Given the description of an element on the screen output the (x, y) to click on. 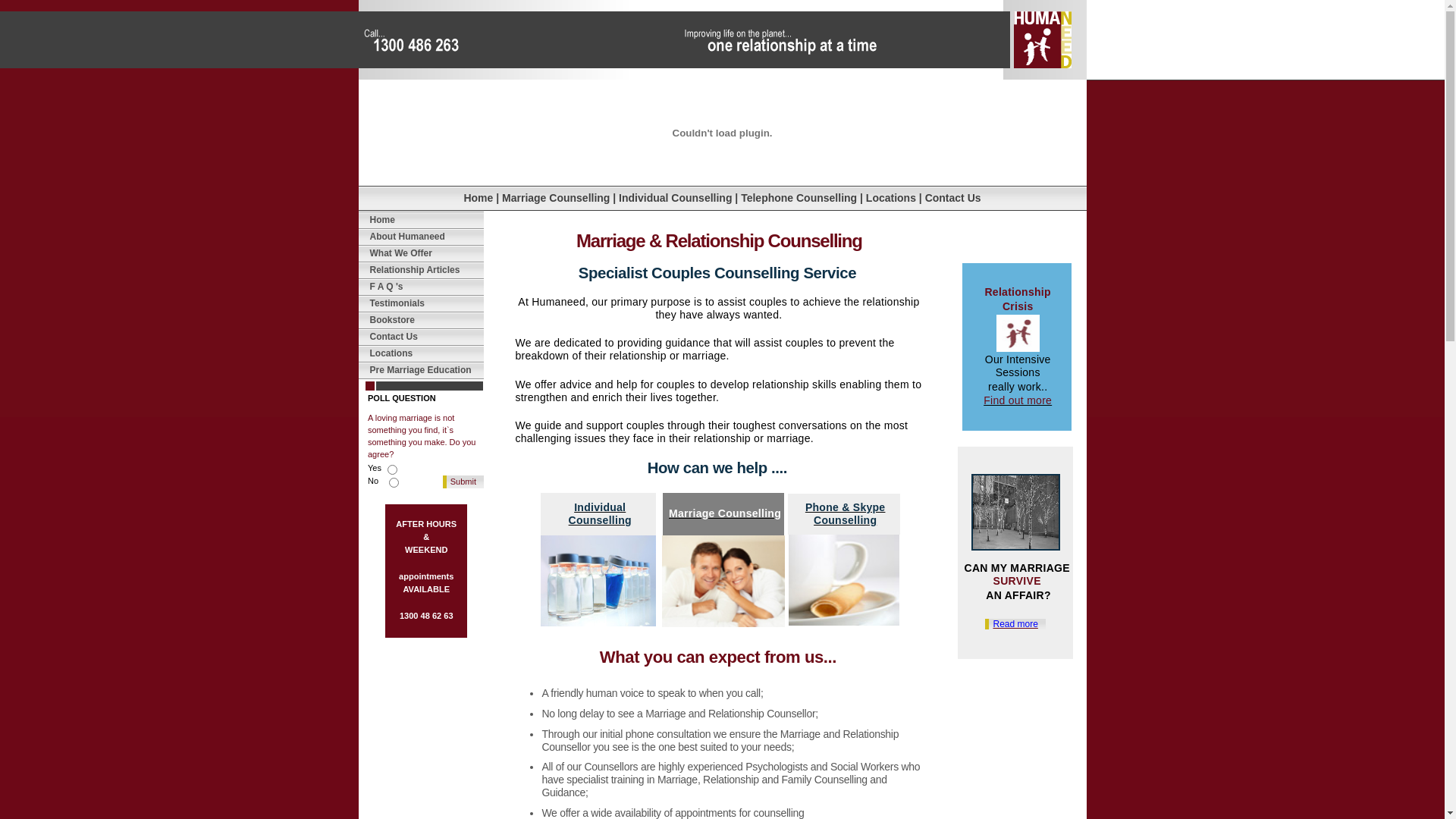
About Humaneed Element type: text (407, 236)
Individual Counselling Element type: text (599, 513)
Home Element type: text (382, 219)
What We Offer Element type: text (401, 252)
Pre Marriage Education Element type: text (420, 369)
Locations Element type: text (891, 197)
Marriage Counselling Element type: text (724, 513)
Testimonials Element type: text (397, 303)
Bookstore Element type: text (392, 319)
F A Q 's Element type: text (386, 286)
Contact Us Element type: text (393, 336)
Individual Element type: hover (597, 580)
Marriage Counselling Element type: text (555, 197)
Read more Element type: text (1014, 623)
Contact Us Element type: text (953, 197)
Relationship Articles Element type: text (415, 269)
Marriage Element type: hover (723, 581)
Locations Element type: text (391, 353)
Telephone Counselling Element type: text (798, 197)
Find out more Element type: text (1017, 400)
Phone & Skype Counselling Element type: text (845, 513)
Phone Element type: hover (843, 579)
Individual Counselling Element type: text (674, 197)
Home Element type: text (477, 197)
